Given the description of an element on the screen output the (x, y) to click on. 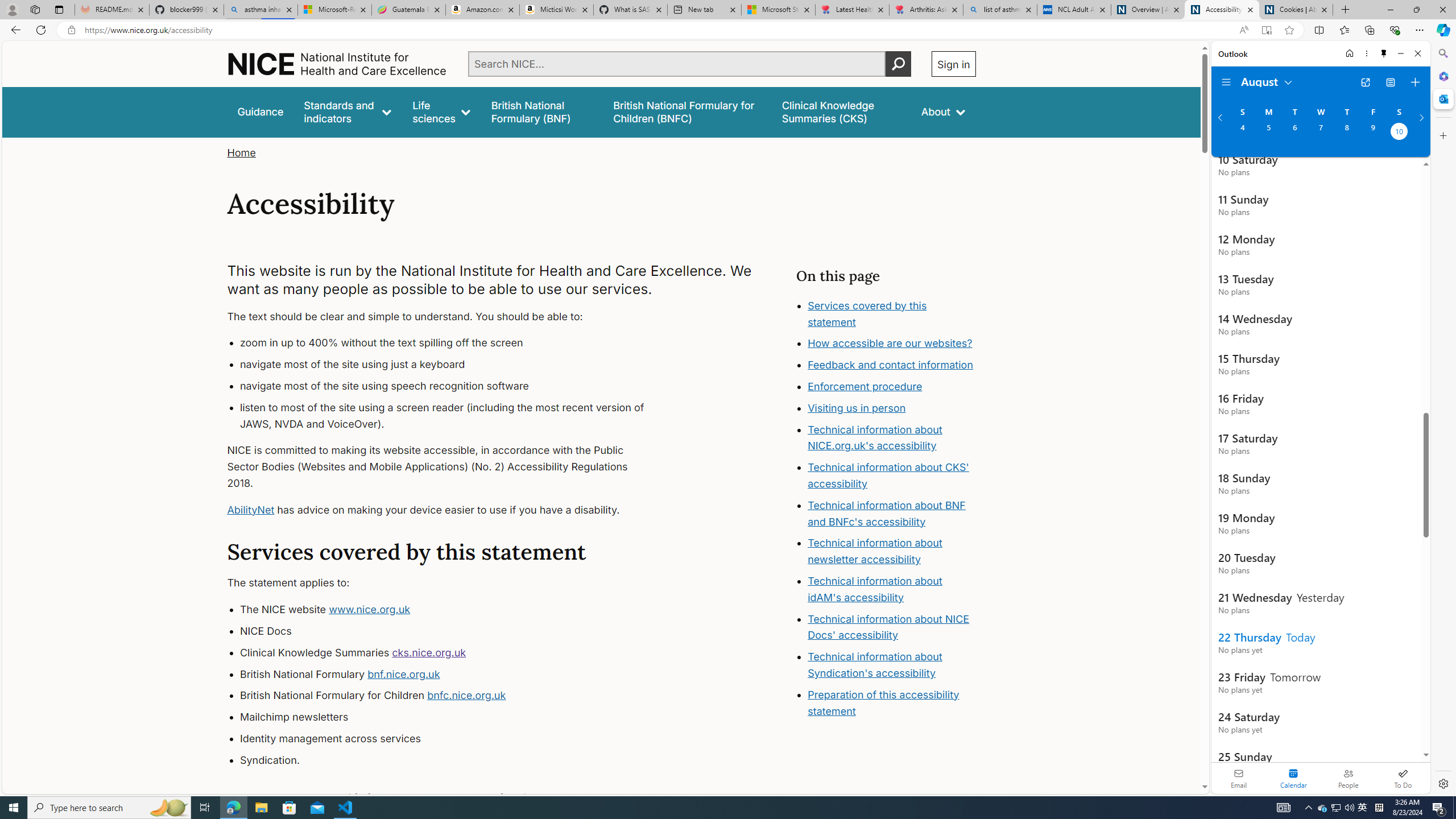
Visiting us in person (856, 407)
Arthritis: Ask Health Professionals (925, 9)
Sign in (952, 63)
Identity management across services (452, 738)
Technical information about NICE Docs' accessibility (888, 626)
Feedback and contact information (891, 364)
Perform search (898, 63)
Create event (1414, 82)
Thursday, August 8, 2024.  (1346, 132)
Friday, August 9, 2024.  (1372, 132)
About (942, 111)
